Given the description of an element on the screen output the (x, y) to click on. 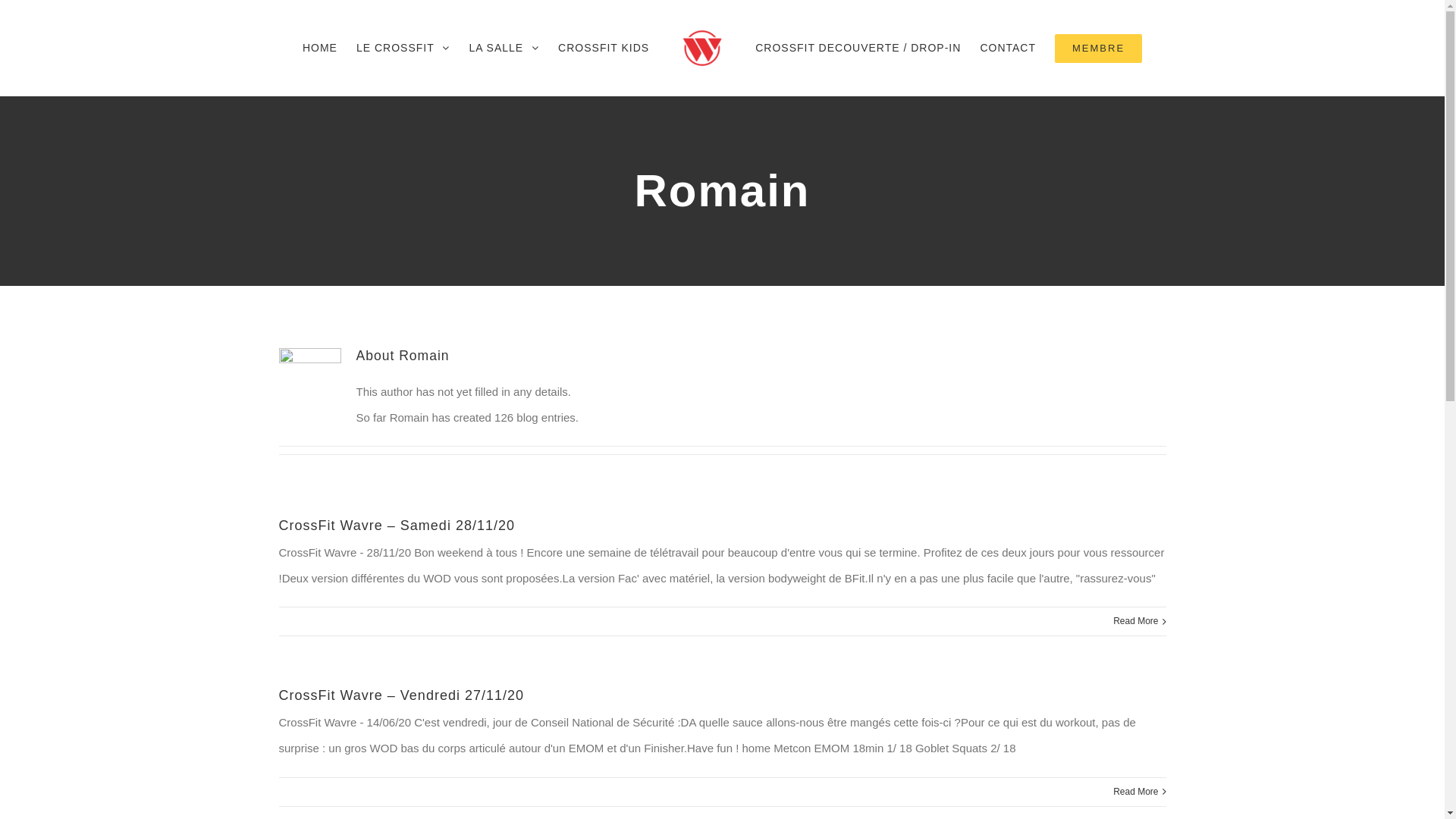
CROSSFIT DECOUVERTE / DROP-IN Element type: text (857, 48)
CROSSFIT KIDS Element type: text (603, 48)
CONTACT Element type: text (1007, 48)
HOME Element type: text (319, 48)
Read More Element type: text (1135, 791)
MEMBRE Element type: text (1098, 48)
Read More Element type: text (1135, 621)
LE CROSSFIT Element type: text (402, 48)
LA SALLE Element type: text (503, 48)
